Given the description of an element on the screen output the (x, y) to click on. 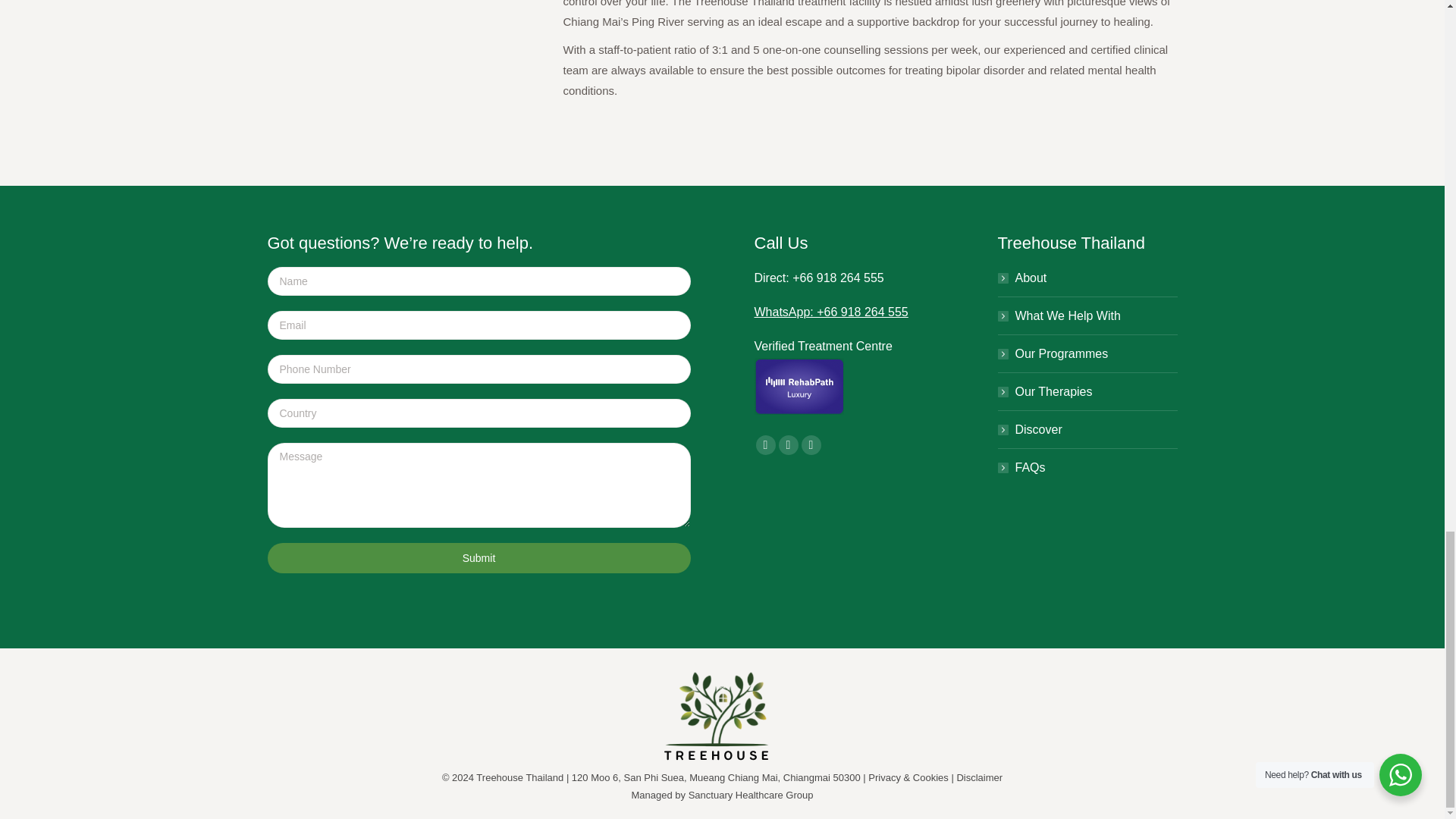
X page opens in new window (787, 444)
Submit (478, 557)
YouTube page opens in new window (810, 444)
Facebook page opens in new window (764, 444)
